Given the description of an element on the screen output the (x, y) to click on. 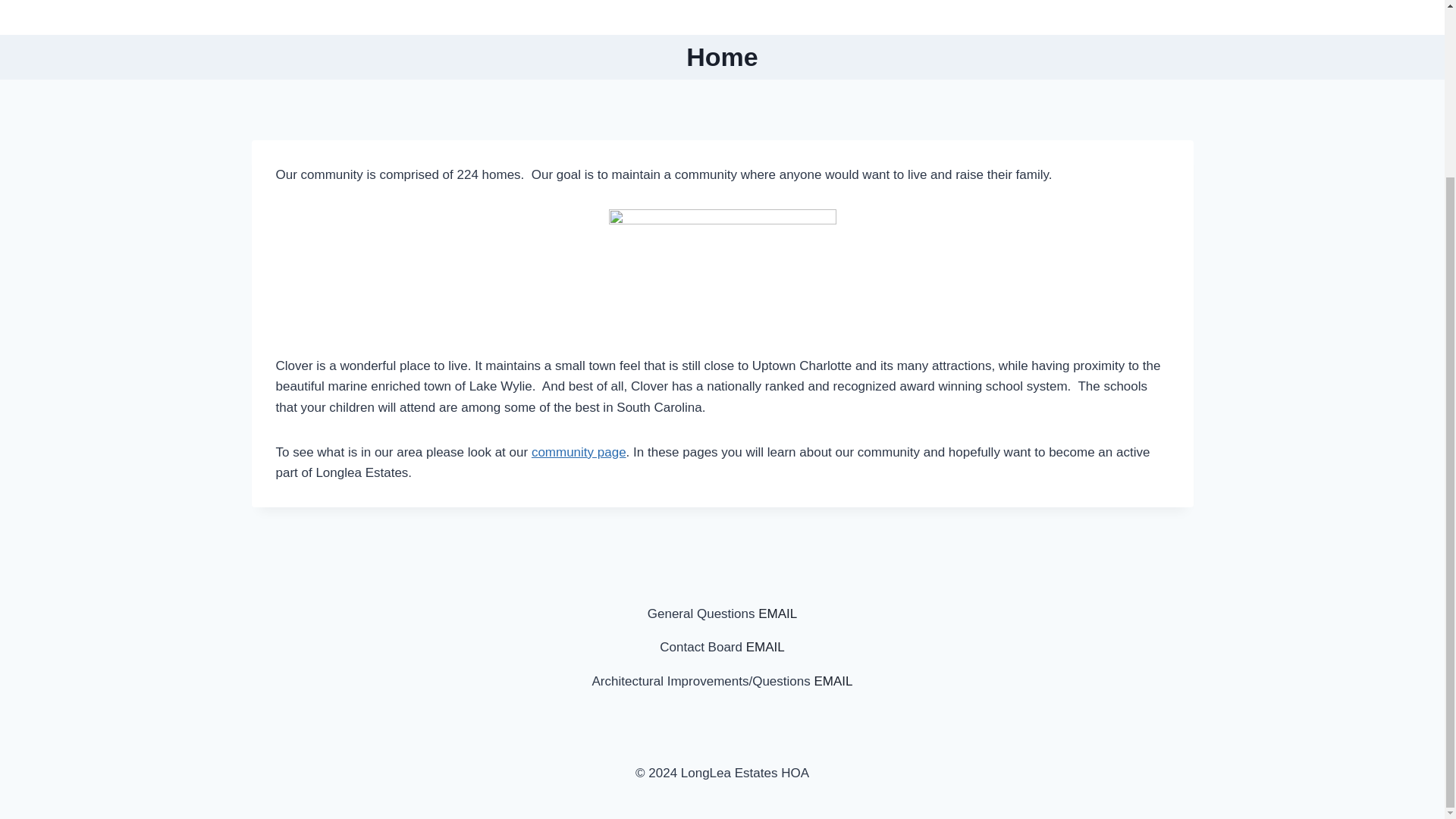
EMAIL (764, 646)
community page (578, 452)
EMAIL (777, 613)
EMAIL (832, 681)
